Given the description of an element on the screen output the (x, y) to click on. 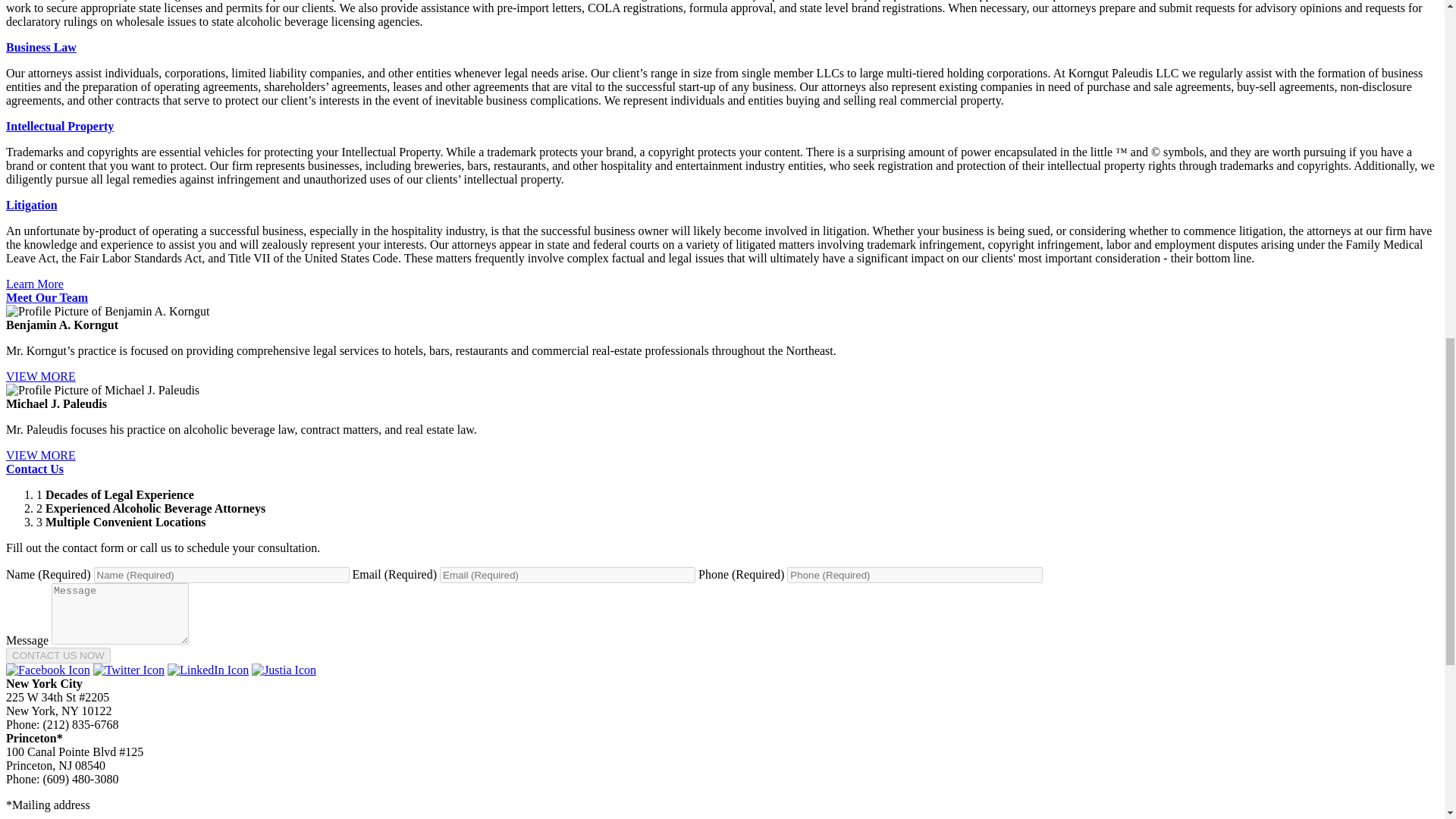
Meet Our Team (46, 297)
Twitter (128, 669)
Facebook (47, 669)
Litigation (31, 205)
Learn More (34, 283)
Justia (283, 669)
Intellectual Property (59, 125)
LinkedIn (207, 669)
Business Law (41, 47)
